Given the description of an element on the screen output the (x, y) to click on. 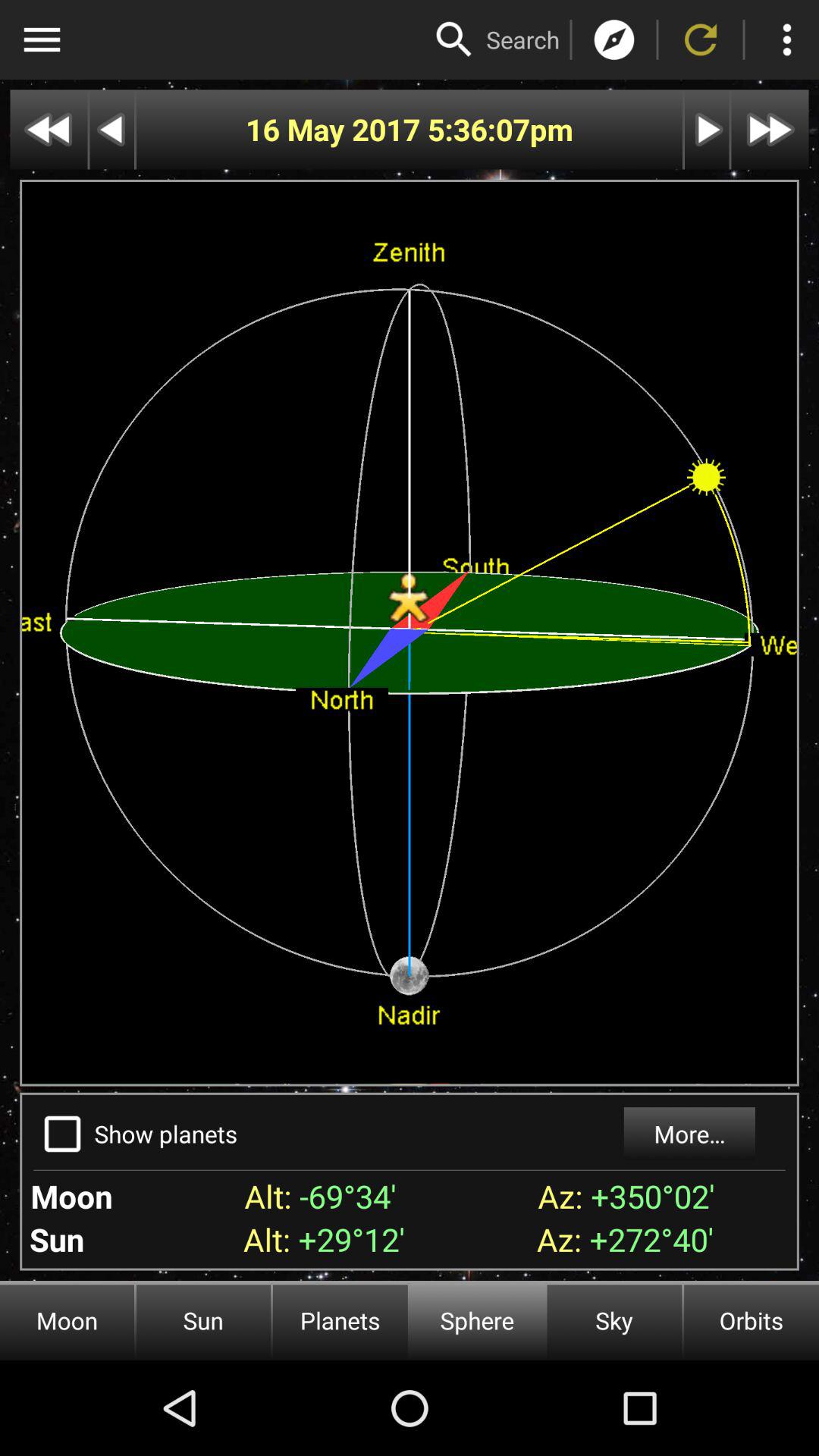
go settings (41, 39)
